Given the description of an element on the screen output the (x, y) to click on. 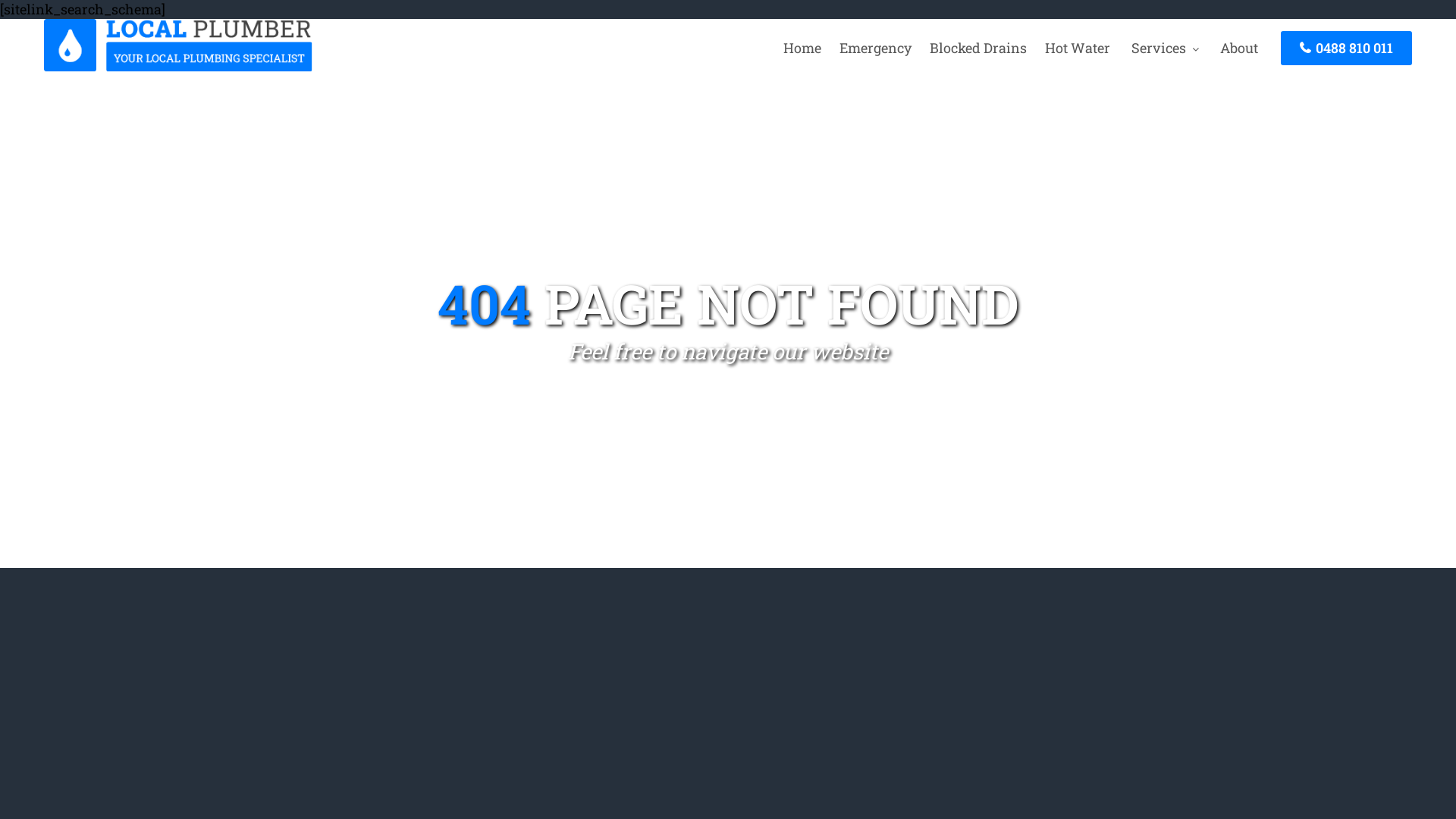
Plumbers Element type: hover (177, 66)
Blocked Drains Element type: text (978, 47)
Hot Water Element type: text (1077, 47)
Services Element type: text (1164, 47)
About Element type: text (1238, 47)
0488 810 011 Element type: text (1346, 48)
Home Element type: text (801, 47)
Emergency Element type: text (875, 47)
